Given the description of an element on the screen output the (x, y) to click on. 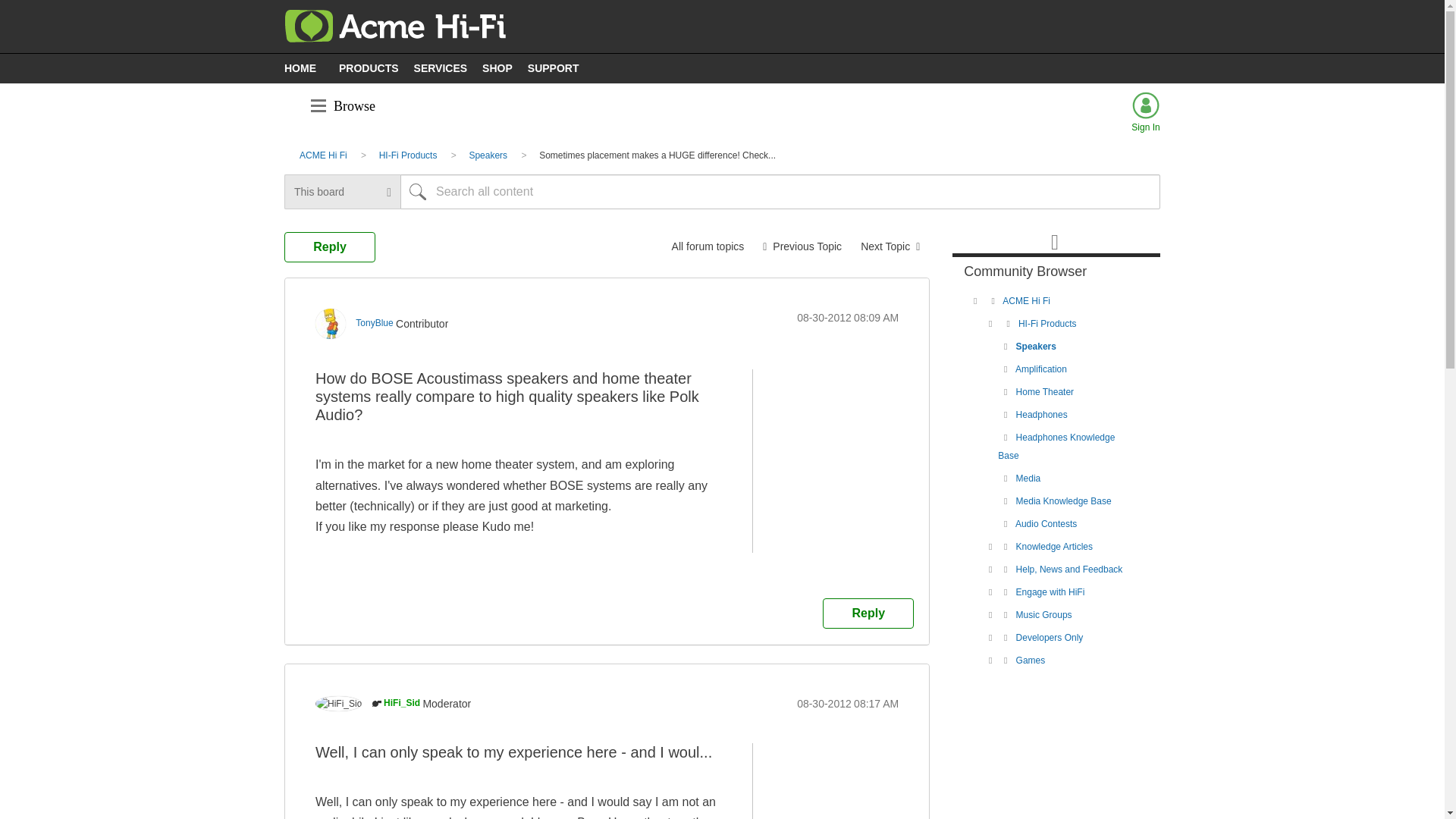
This should be good for us to talk about.... (890, 246)
ACME Hi Fi (323, 154)
My rear speakers in my bose audio system dont work (801, 246)
TonyBlue (330, 323)
Reply (329, 246)
Reply (868, 613)
SERVICES (444, 67)
Search (417, 191)
All forum topics (708, 246)
Posted on (847, 317)
